Given the description of an element on the screen output the (x, y) to click on. 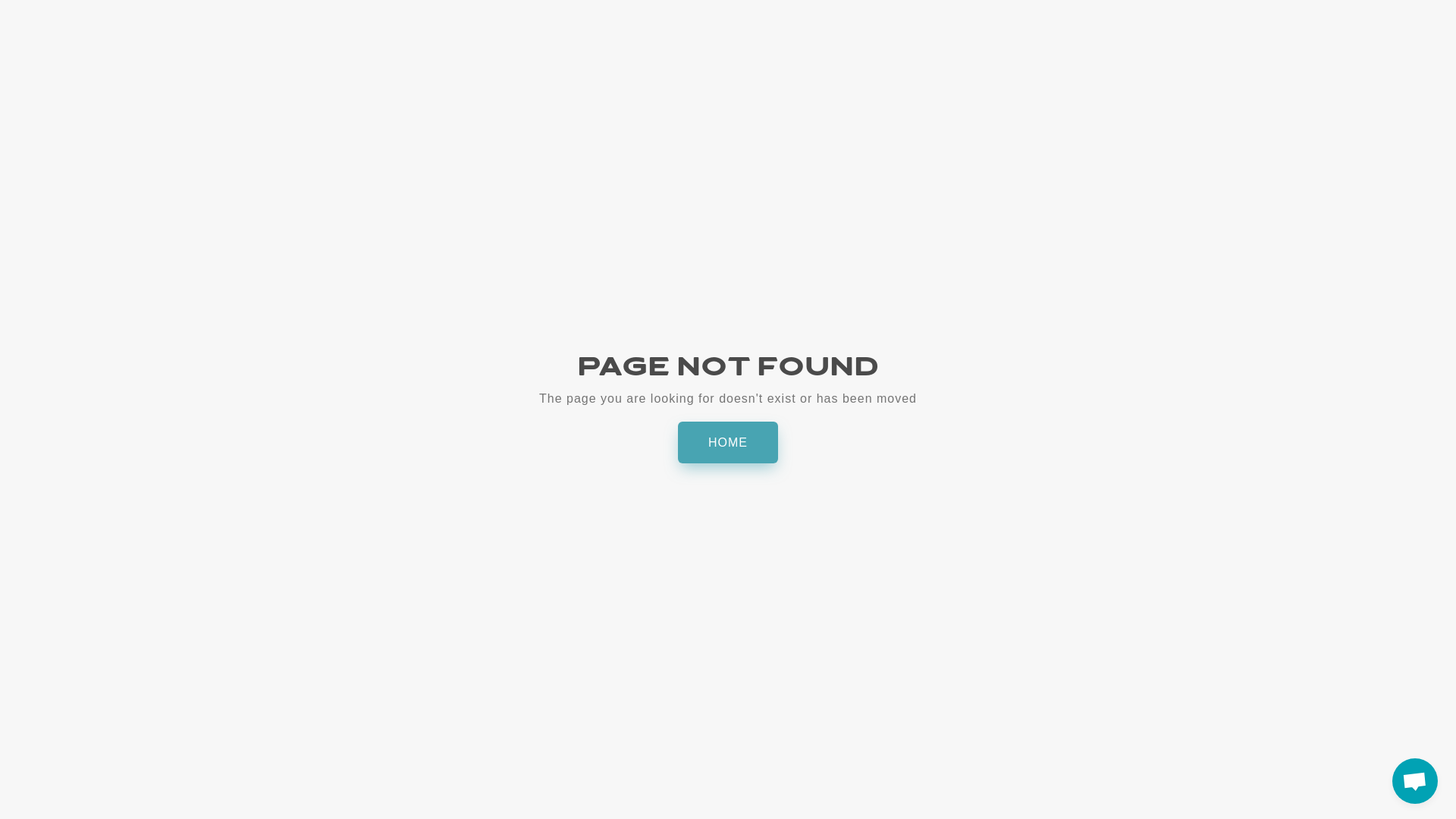
HOME Element type: text (727, 442)
